Given the description of an element on the screen output the (x, y) to click on. 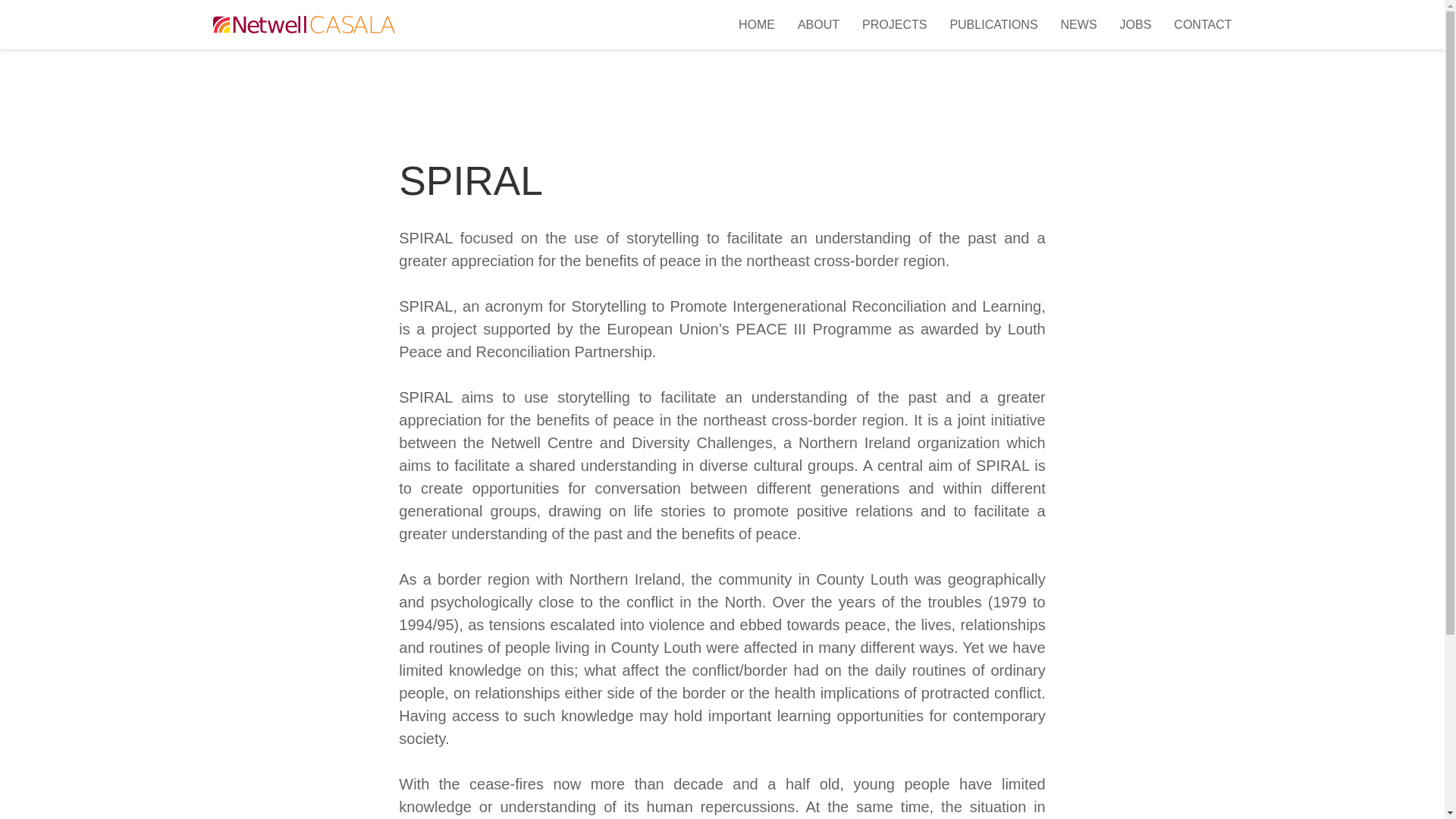
HOME (756, 24)
CONTACT (1202, 24)
NEWS (1078, 24)
PROJECTS (893, 24)
ABOUT (818, 24)
PUBLICATIONS (992, 24)
JOBS (1135, 24)
